Given the description of an element on the screen output the (x, y) to click on. 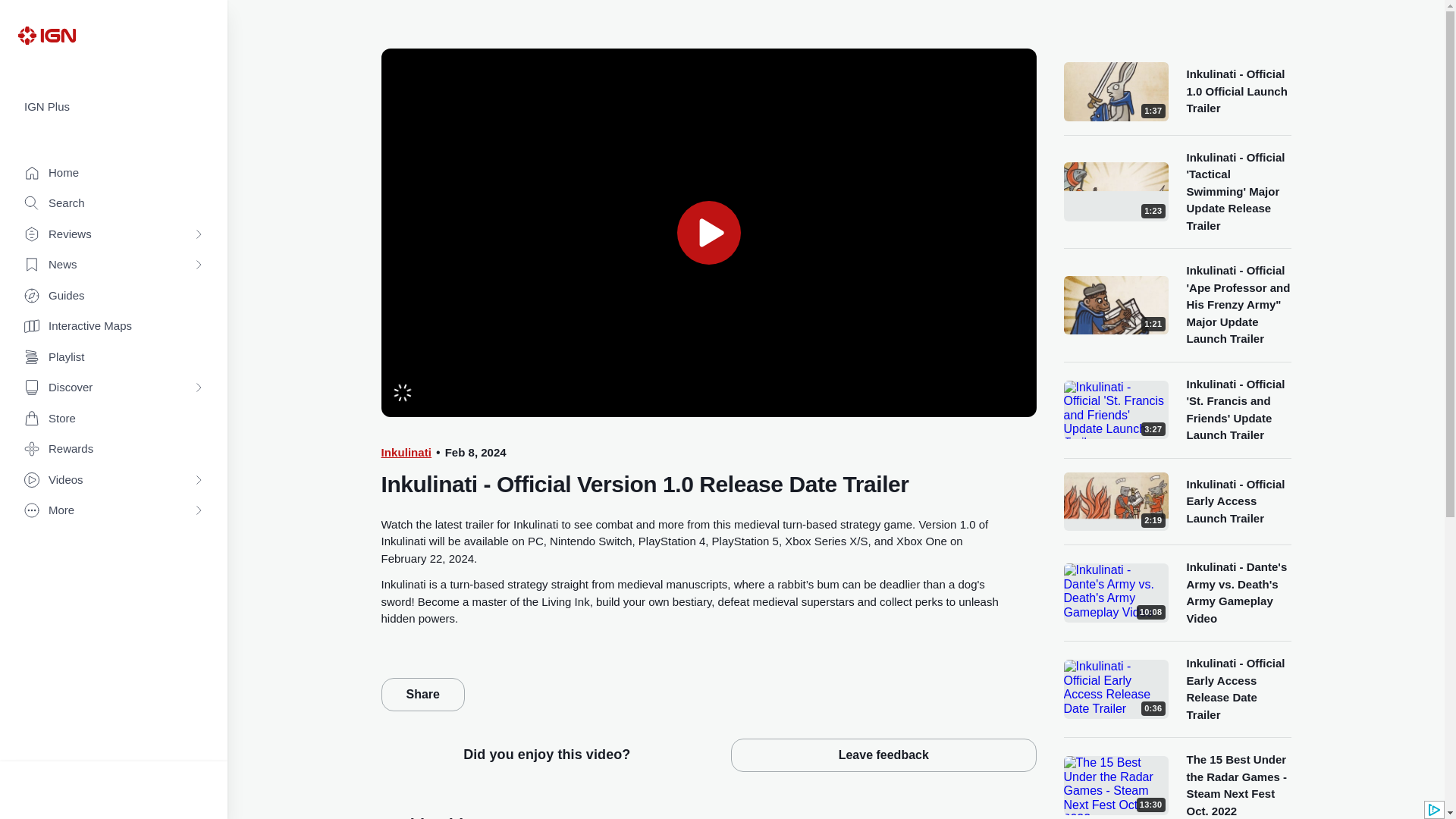
Reviews (113, 234)
More (113, 510)
Home (113, 172)
Home (113, 172)
News (113, 265)
Videos (113, 480)
News (113, 265)
Playlist (113, 357)
Store (113, 418)
Interactive Maps (113, 326)
